Given the description of an element on the screen output the (x, y) to click on. 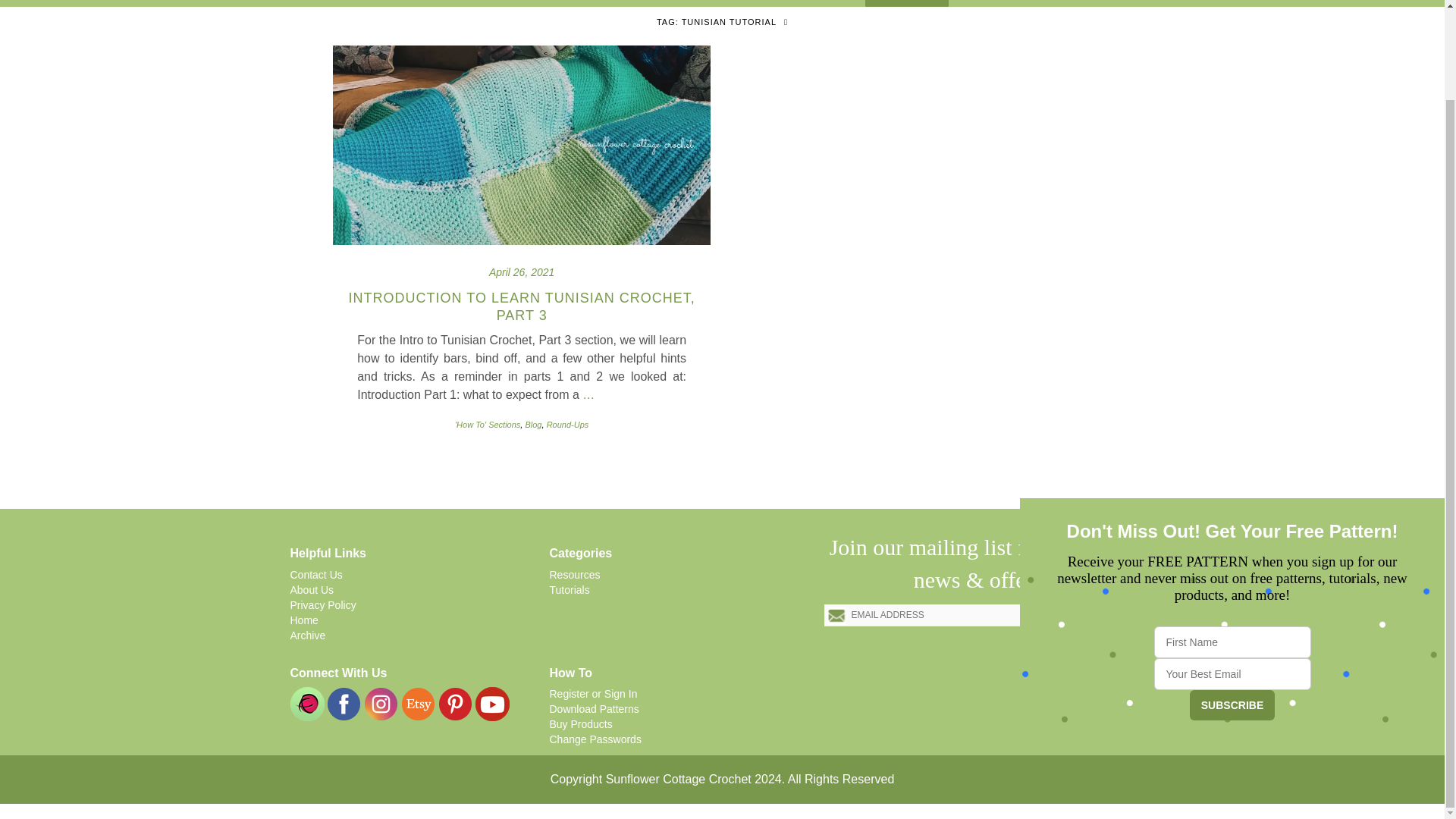
Tutorials (615, 3)
Introduction to Learn Tunisian Crochet, Part 3 (522, 306)
Resources (714, 3)
About Us (814, 3)
Blog (532, 3)
Home (459, 3)
Shop (985, 3)
How To (905, 3)
